Given the description of an element on the screen output the (x, y) to click on. 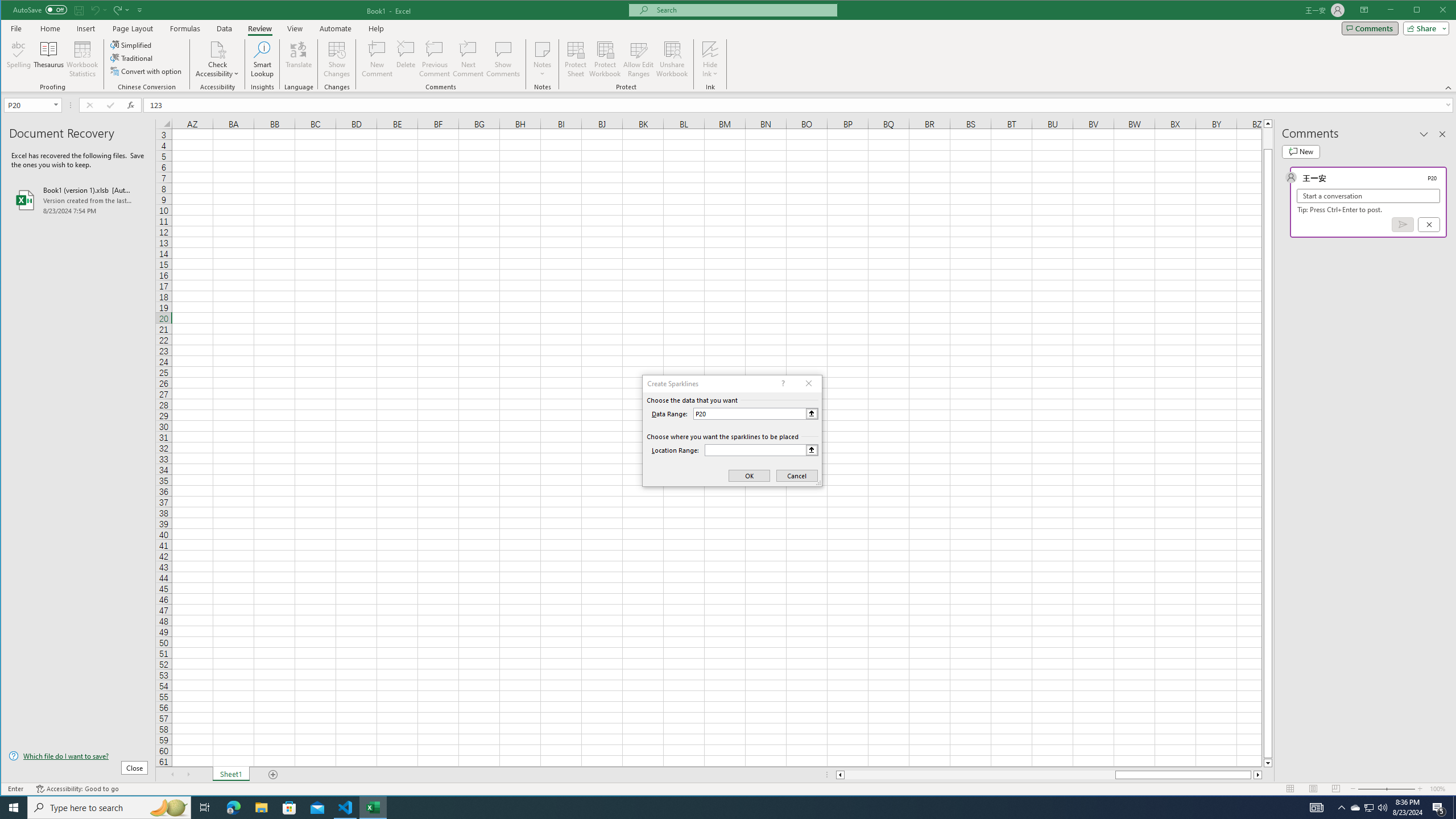
Traditional (132, 57)
Check Accessibility (217, 48)
New comment (1300, 151)
Translate (298, 59)
Next Comment (467, 59)
Page up (1267, 138)
